Given the description of an element on the screen output the (x, y) to click on. 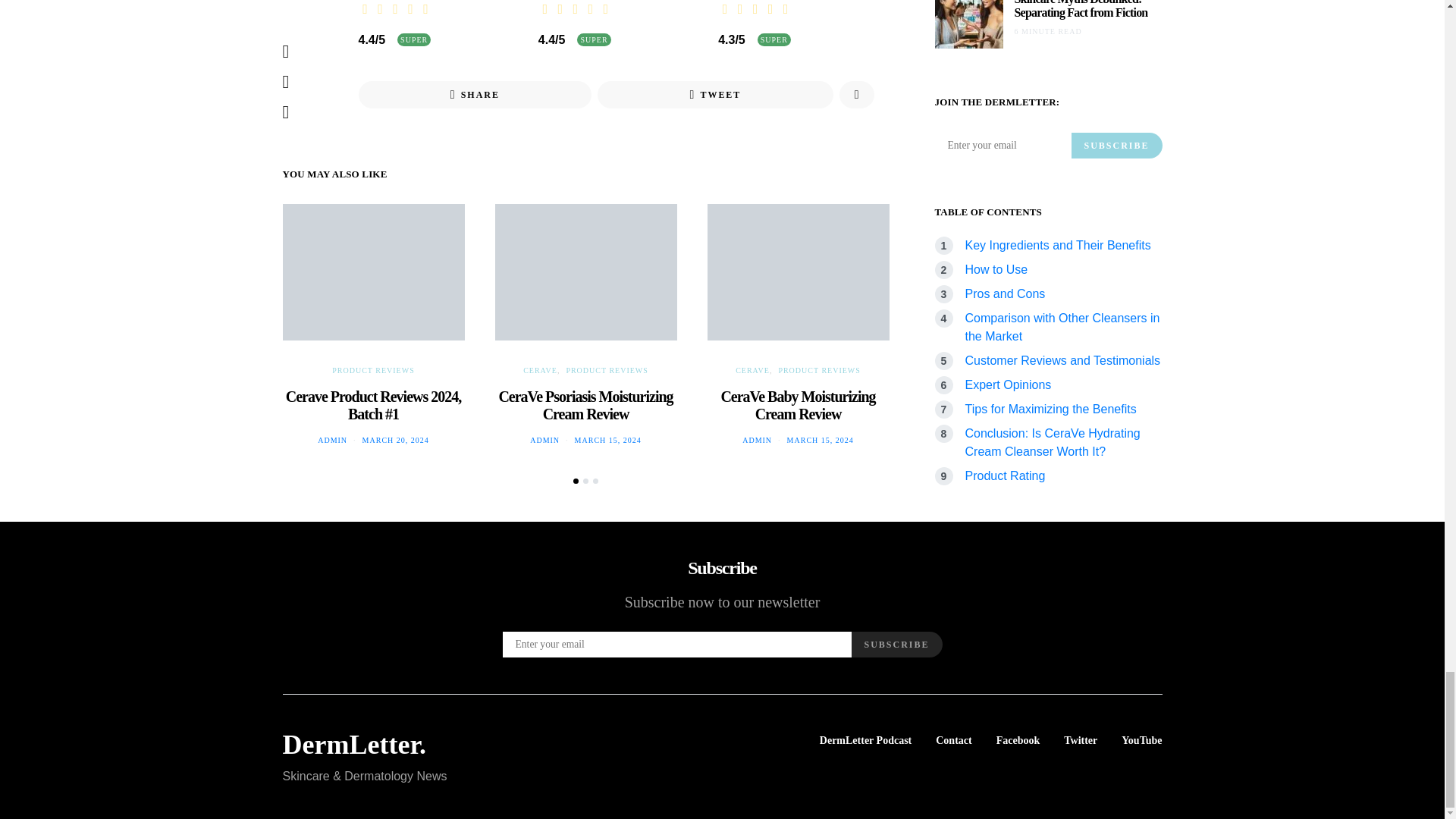
View all posts by Admin (756, 439)
View all posts by Admin (332, 439)
TWEET (714, 94)
SHARE (474, 94)
View all posts by Admin (544, 439)
